Given the description of an element on the screen output the (x, y) to click on. 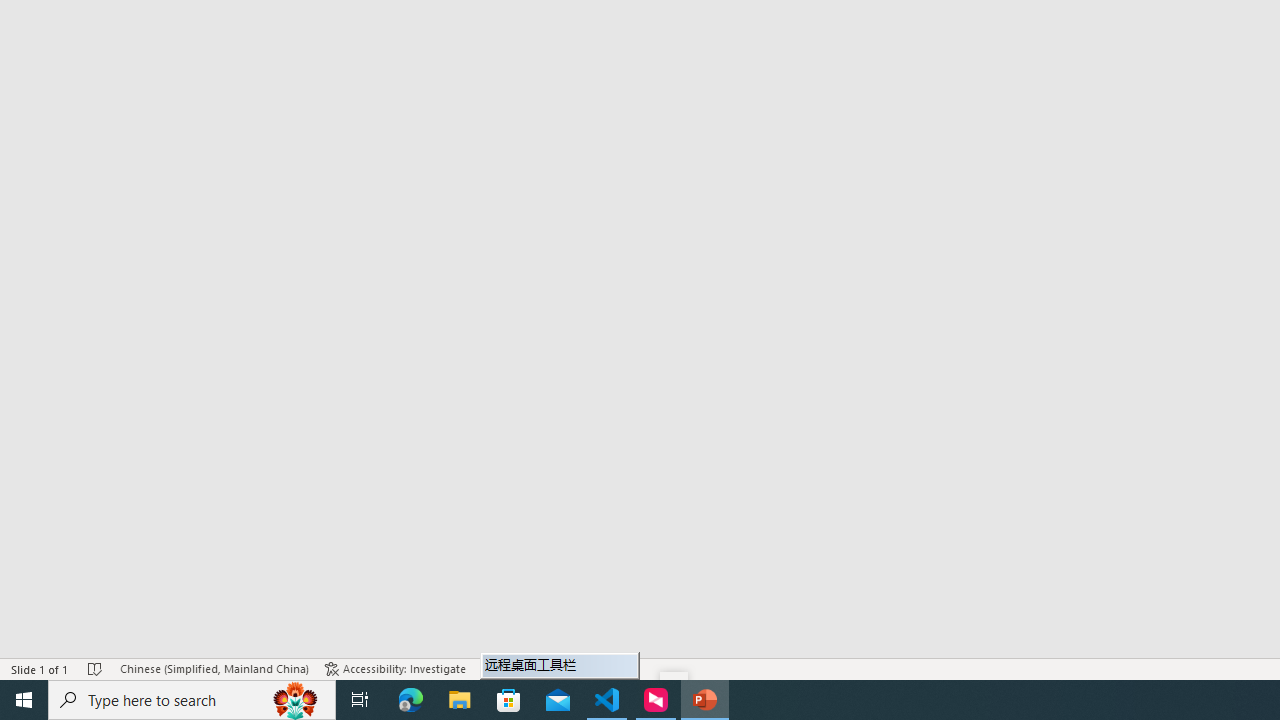
Accessibility Checker Accessibility: Investigate (395, 668)
Spell Check No Errors (95, 668)
